Given the description of an element on the screen output the (x, y) to click on. 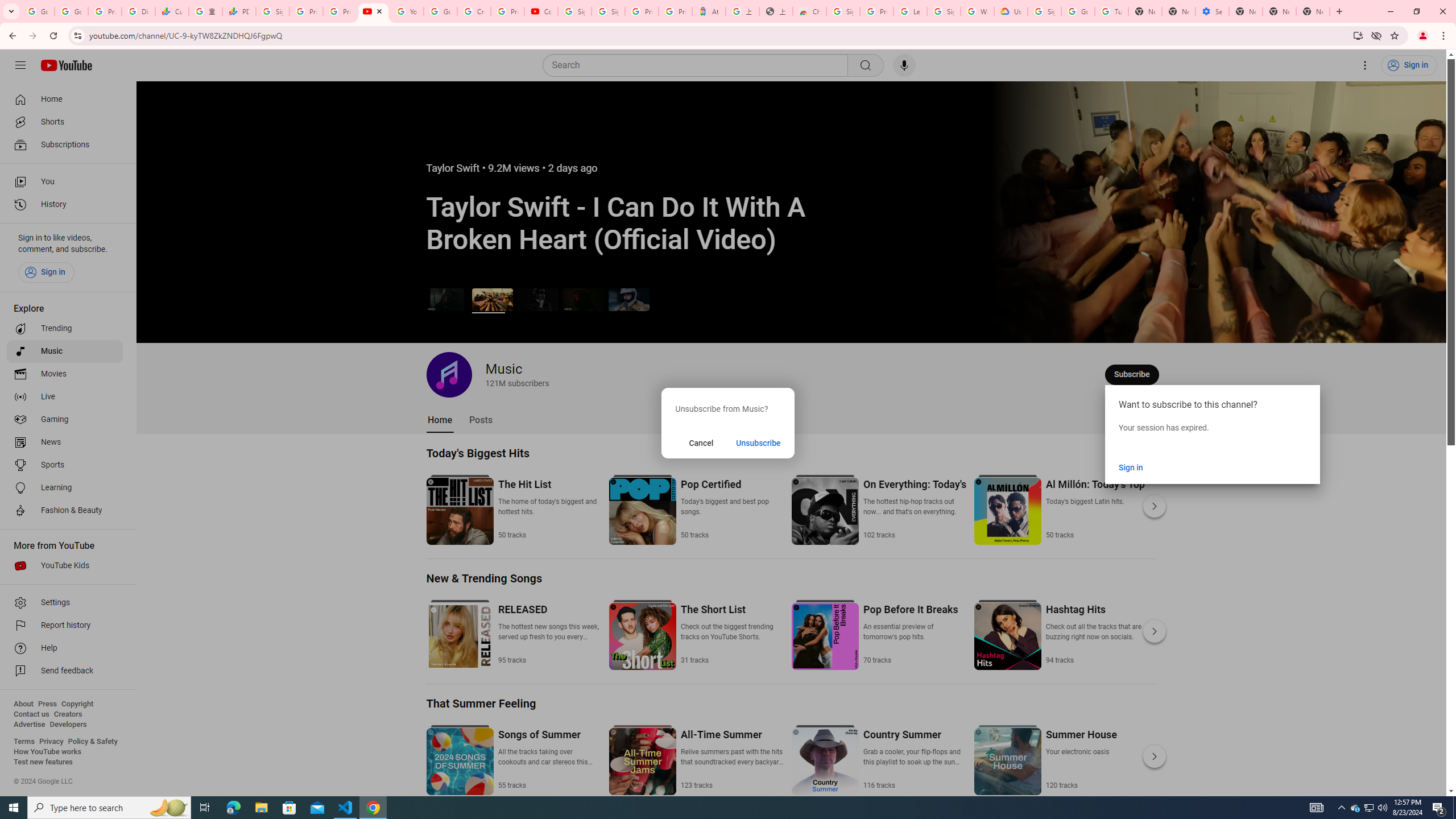
Press (46, 703)
Sign in - Google Accounts (943, 11)
Home (440, 420)
New Tab (1246, 11)
Google Workspace Admin Community (37, 11)
Test new features (42, 761)
Summer House Your electronic oasis 120 tracks (1080, 758)
New Tab (1313, 11)
